Given the description of an element on the screen output the (x, y) to click on. 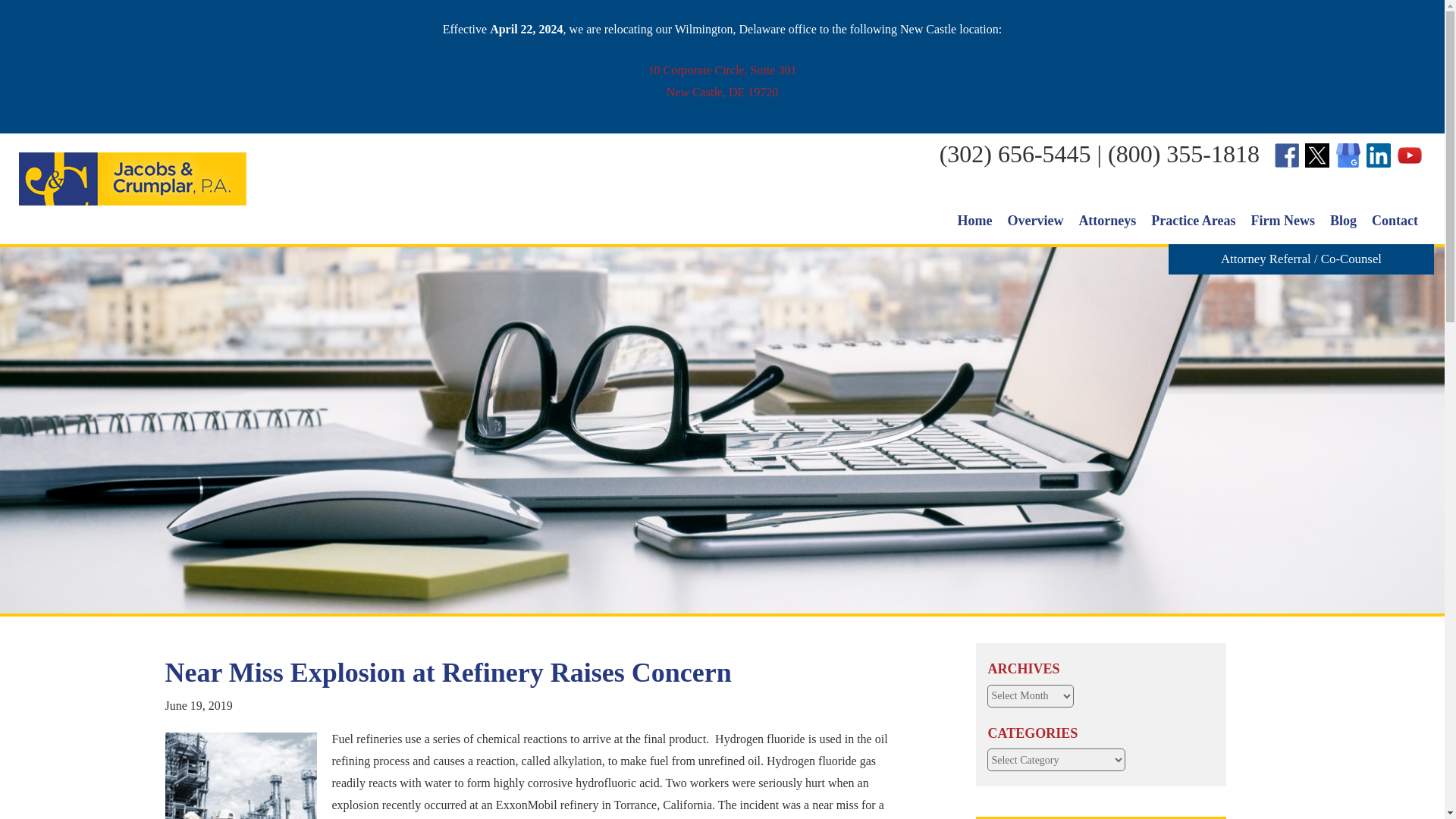
Home (974, 220)
Practice Areas (1193, 220)
Overview (1035, 220)
Georgetown Chemical Exposure Lawyers (721, 80)
Attorneys (241, 775)
